Given the description of an element on the screen output the (x, y) to click on. 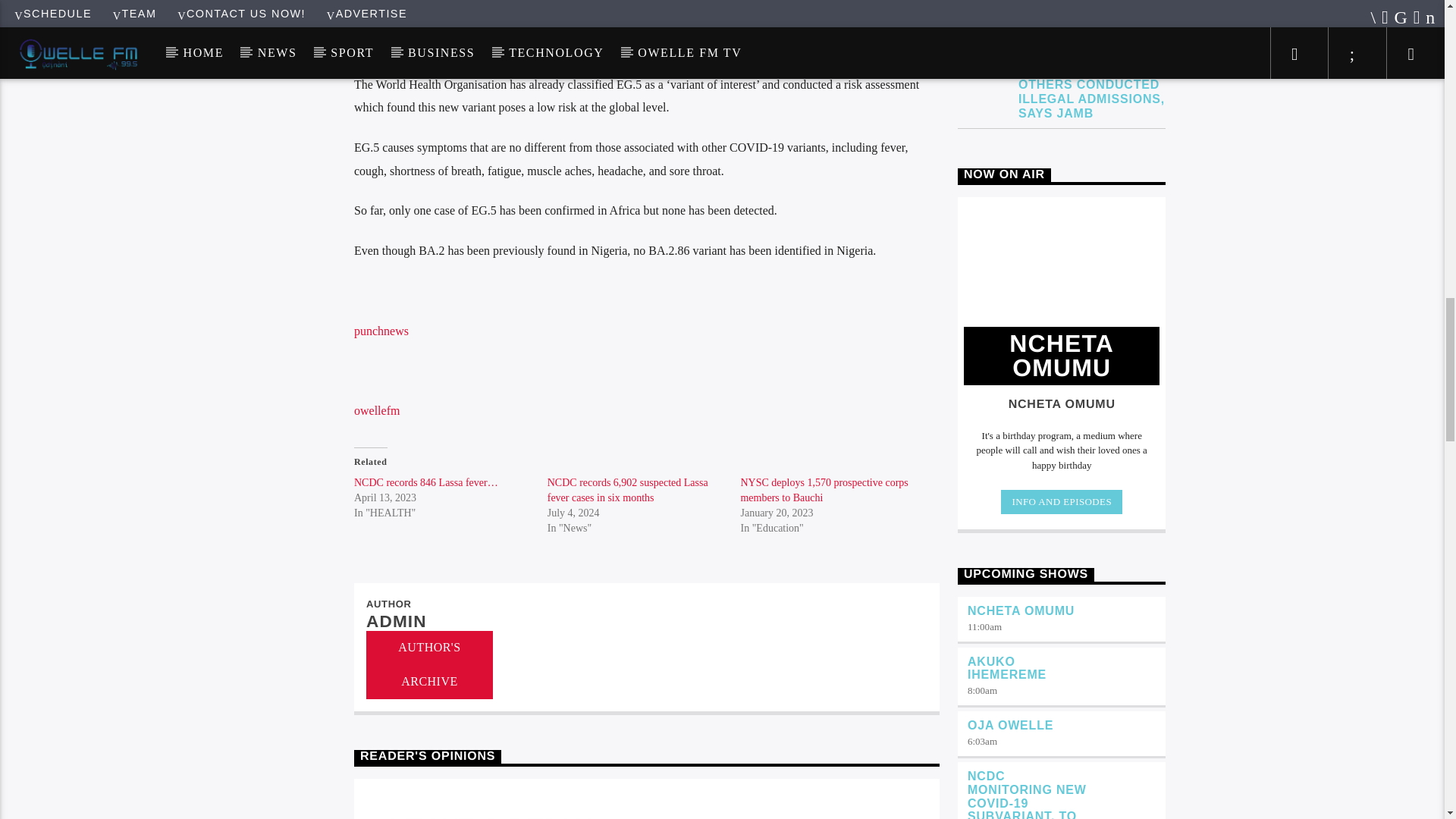
NCDC records 6,902 suspected Lassa fever cases in six months (627, 489)
NYSC deploys 1,570 prospective corps members to Bauchi (823, 489)
